Given the description of an element on the screen output the (x, y) to click on. 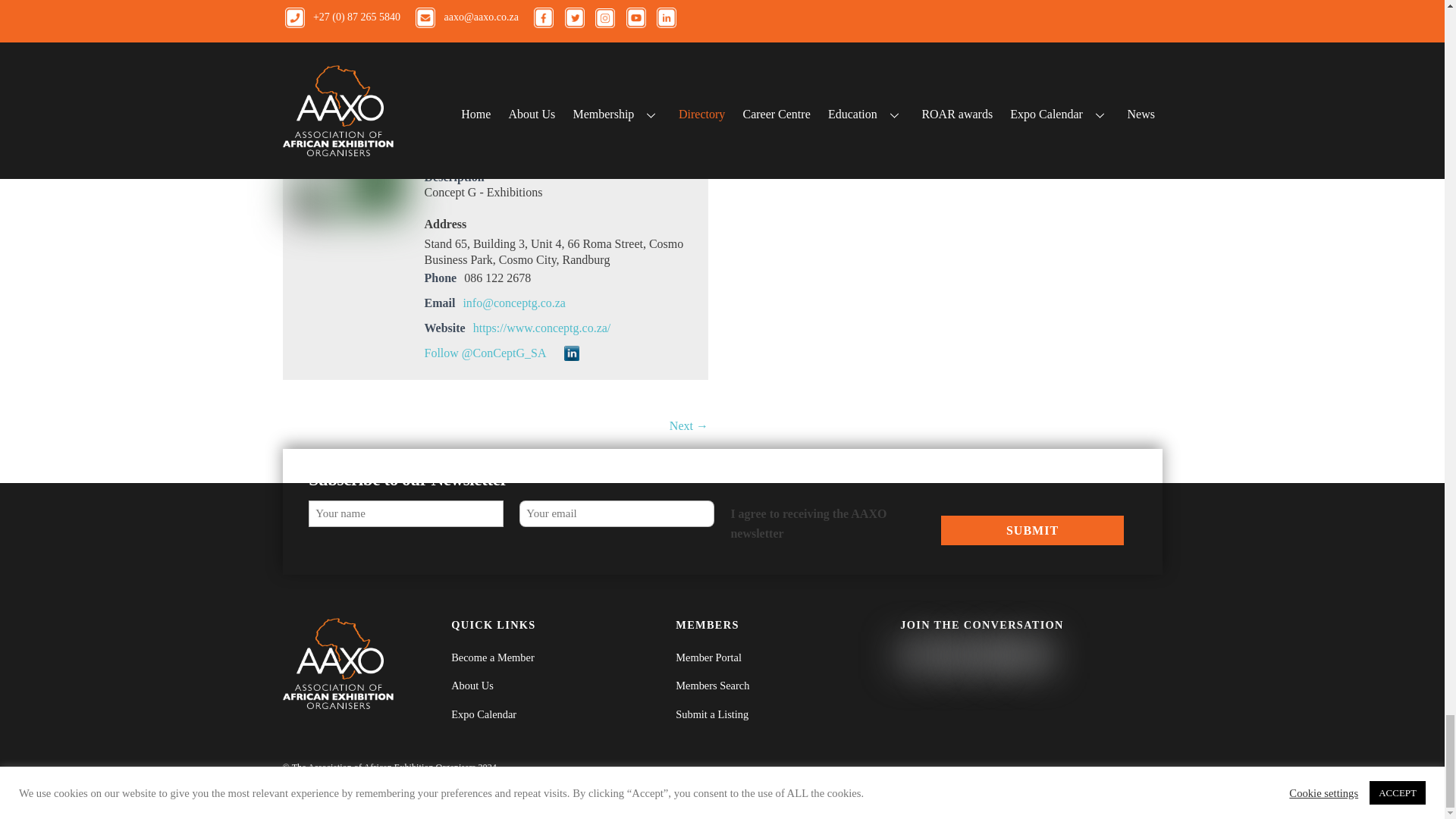
Submit (1031, 530)
